Given the description of an element on the screen output the (x, y) to click on. 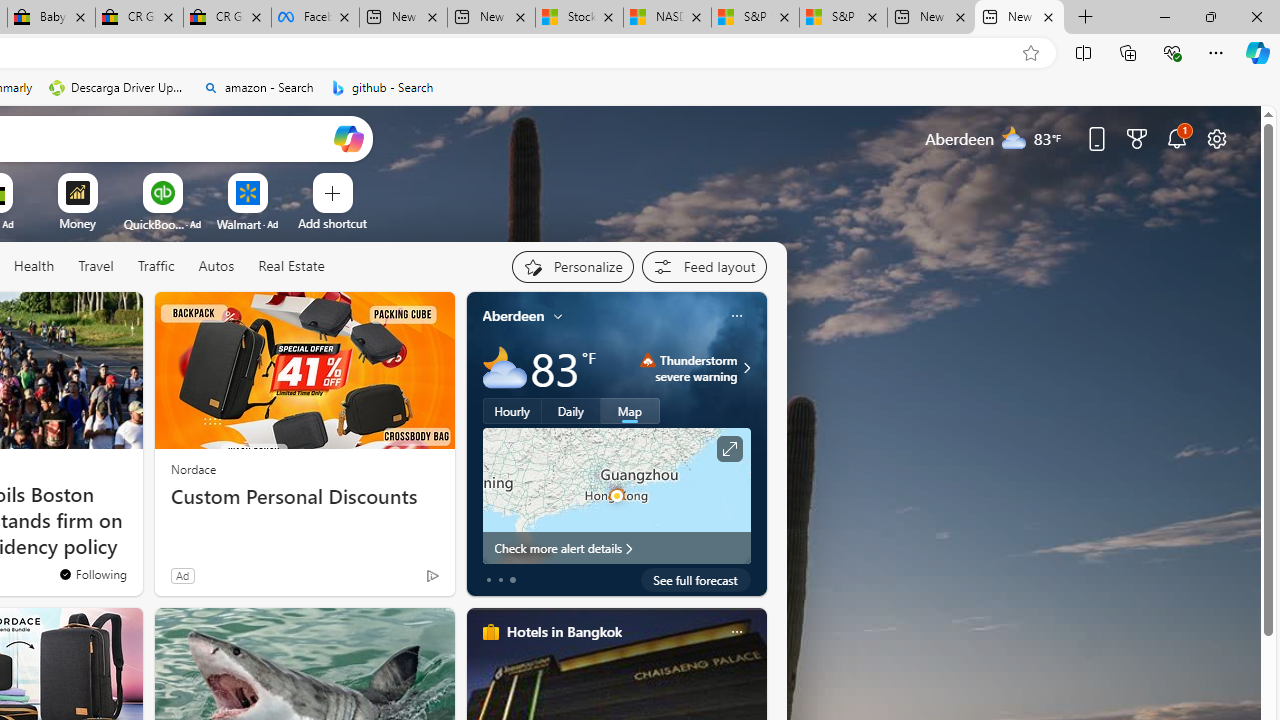
Map (630, 411)
Health (34, 265)
Travel (95, 265)
Page settings (1216, 138)
Traffic (155, 265)
Descarga Driver Updater (118, 88)
Traffic (155, 267)
Ad Choice (432, 575)
More options (736, 631)
